Given the description of an element on the screen output the (x, y) to click on. 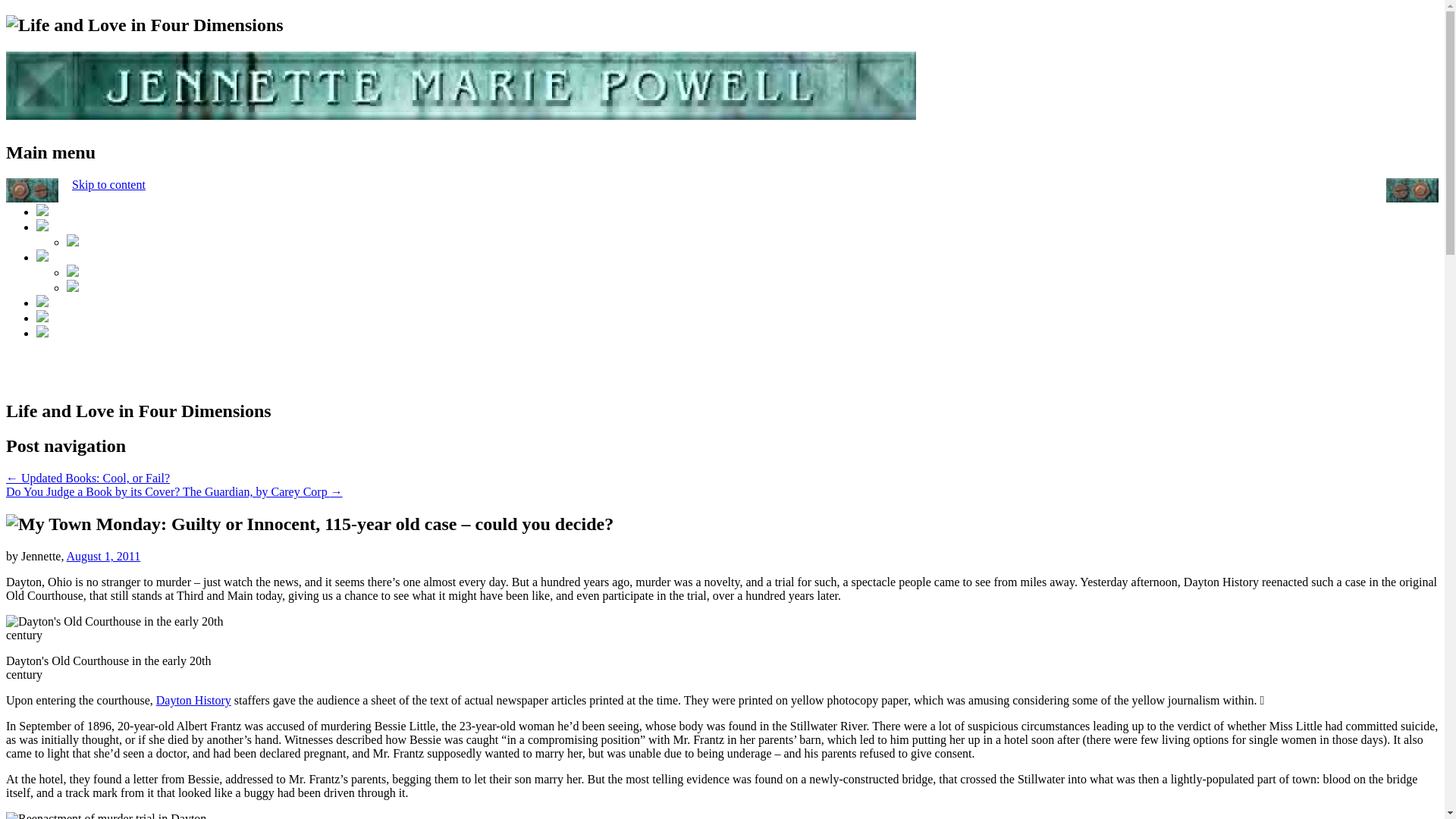
Reenactment of murder trial in Dayton (105, 815)
Saturn Society (72, 272)
About Jennette (42, 226)
Dayton History (193, 699)
Other Books (72, 287)
Old Courthouse from Main St (123, 628)
Skip to content (108, 184)
Contact (42, 332)
Media (72, 241)
Books (42, 256)
